Given the description of an element on the screen output the (x, y) to click on. 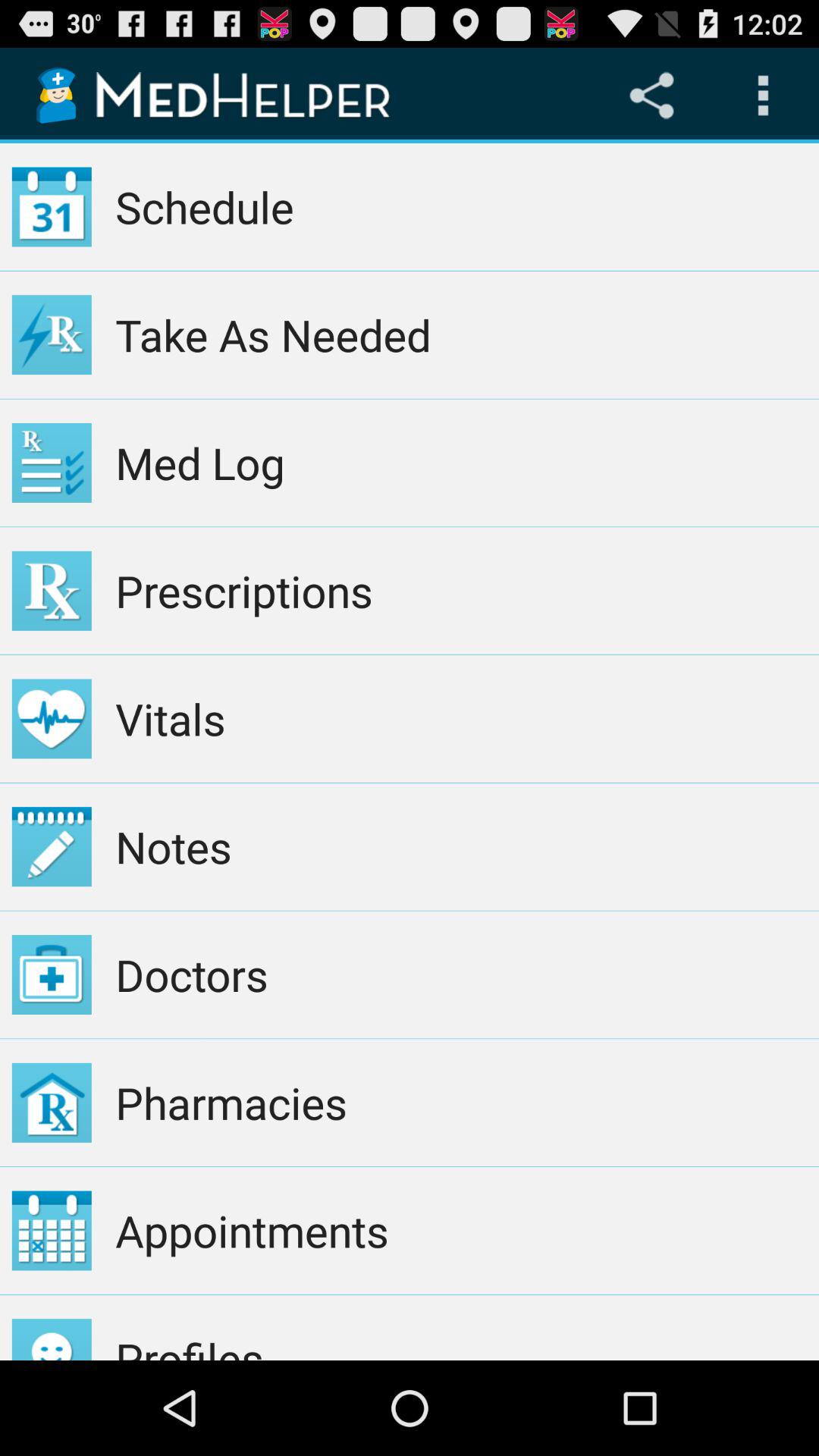
choose the icon above appointments item (461, 1102)
